Given the description of an element on the screen output the (x, y) to click on. 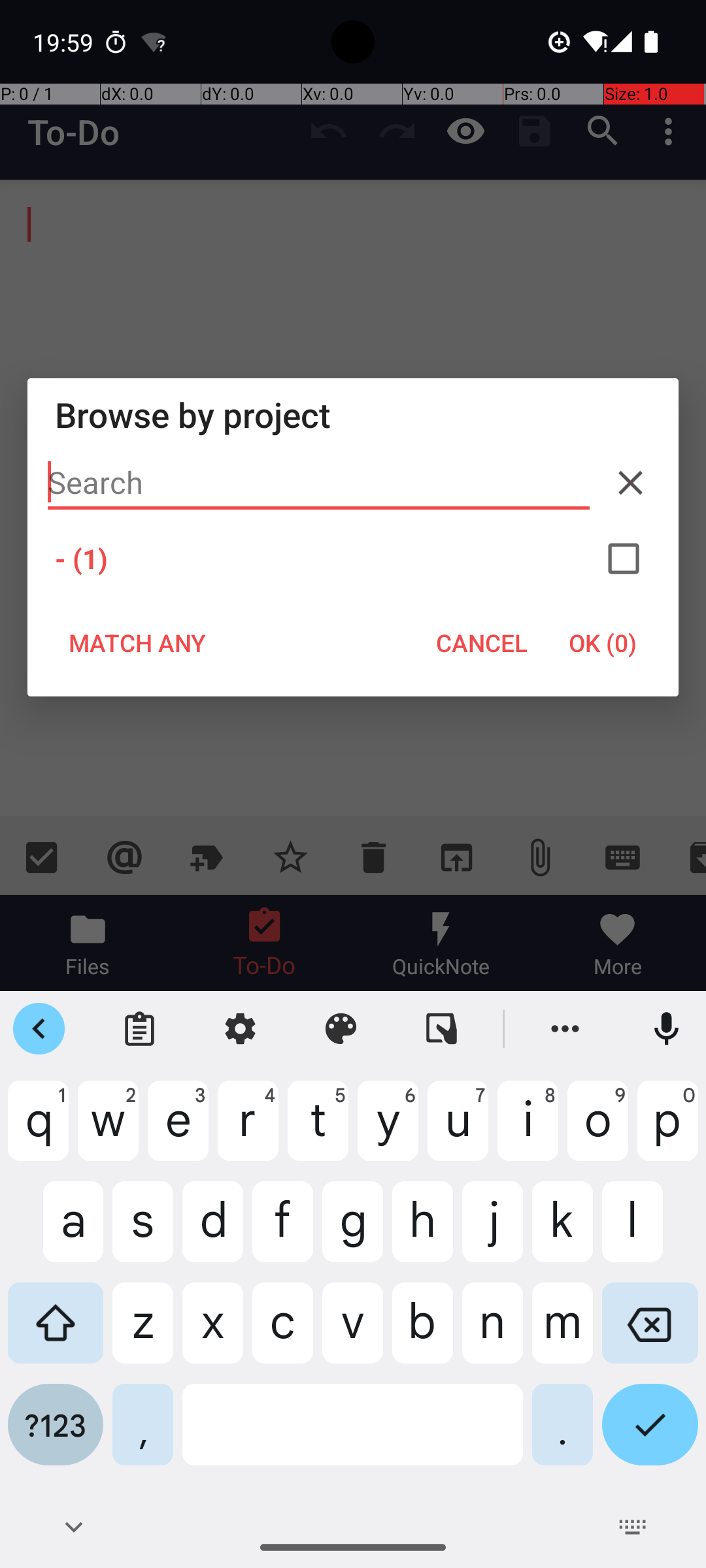
Browse by project Element type: android.widget.TextView (352, 414)
- (1) Element type: android.widget.CheckedTextView (352, 558)
MATCH ANY Element type: android.widget.Button (137, 642)
19:59 Element type: android.widget.TextView (64, 41)
